Given the description of an element on the screen output the (x, y) to click on. 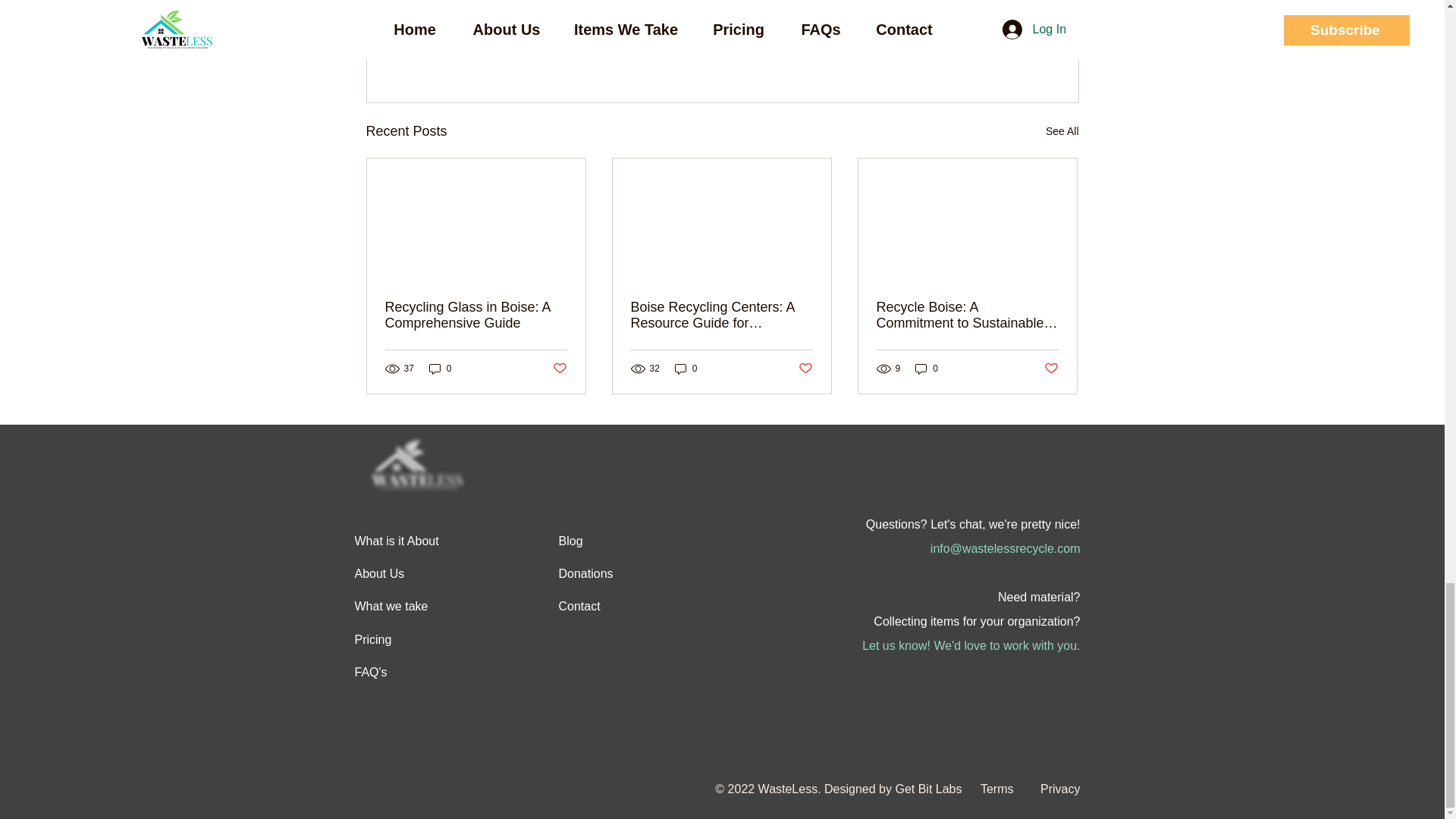
Boise Recycling (965, 4)
Post not marked as liked (558, 368)
0 (440, 368)
Post not marked as liked (804, 368)
Recycling Glass in Boise: A Comprehensive Guide (476, 315)
See All (1061, 131)
0 (685, 368)
Post not marked as liked (995, 48)
